Given the description of an element on the screen output the (x, y) to click on. 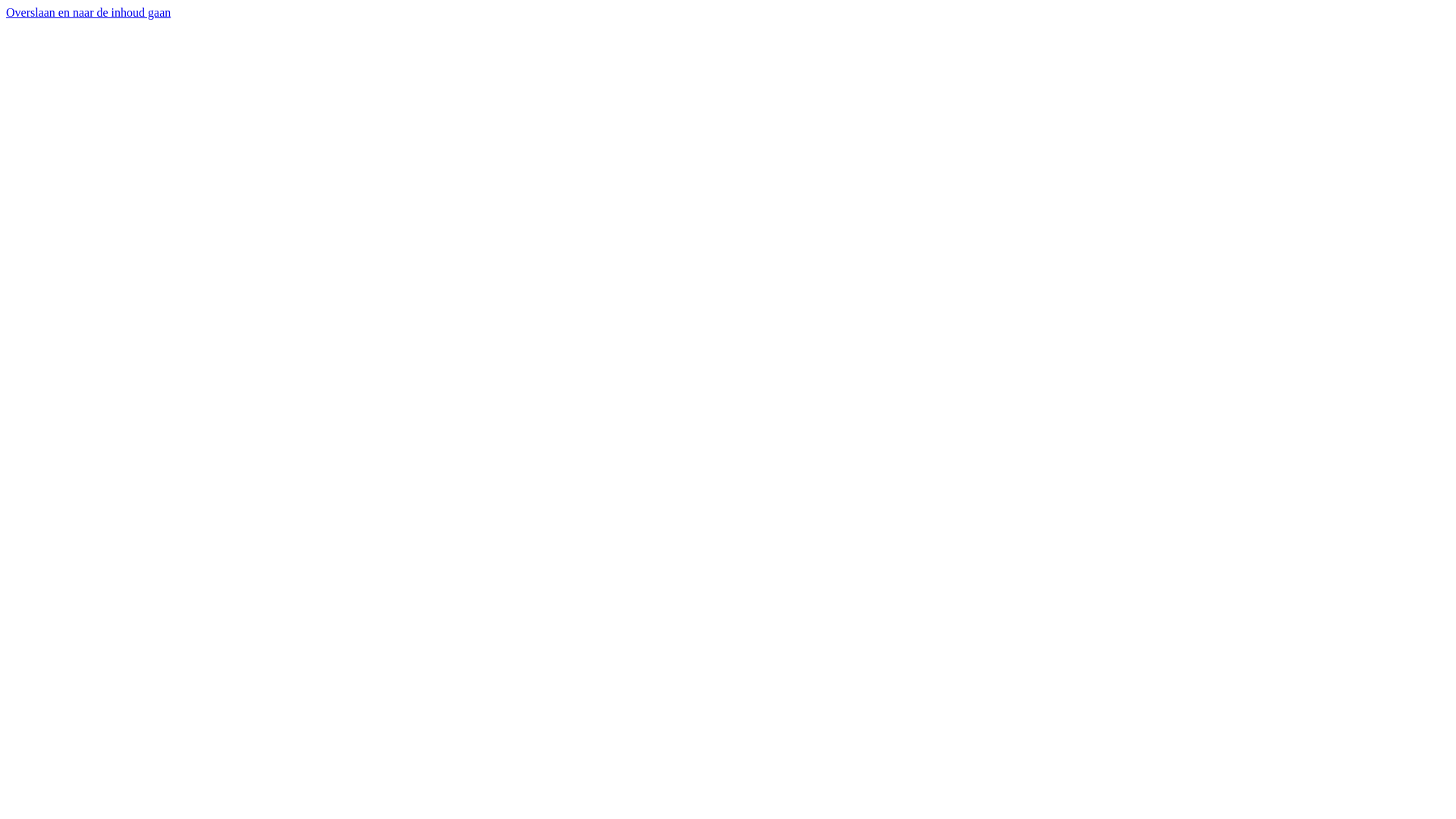
Overslaan en naar de inhoud gaan Element type: text (88, 12)
Home Element type: hover (79, 104)
